Given the description of an element on the screen output the (x, y) to click on. 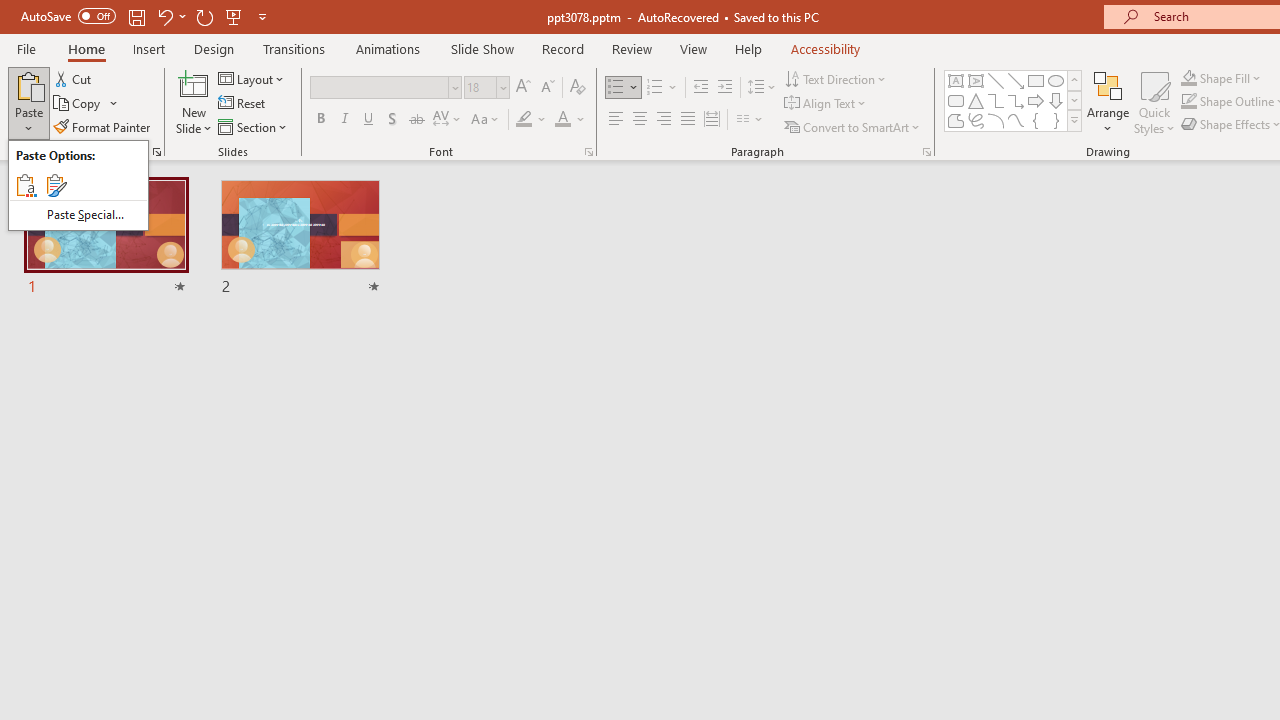
Slide (300, 238)
Line Spacing (762, 87)
Text Direction (836, 78)
AutomationID: ShapesInsertGallery (1014, 100)
Font (385, 87)
Office Clipboard... (156, 151)
Open (502, 87)
Font... (588, 151)
Strikethrough (416, 119)
Arc (995, 120)
Bullets (616, 87)
